Given the description of an element on the screen output the (x, y) to click on. 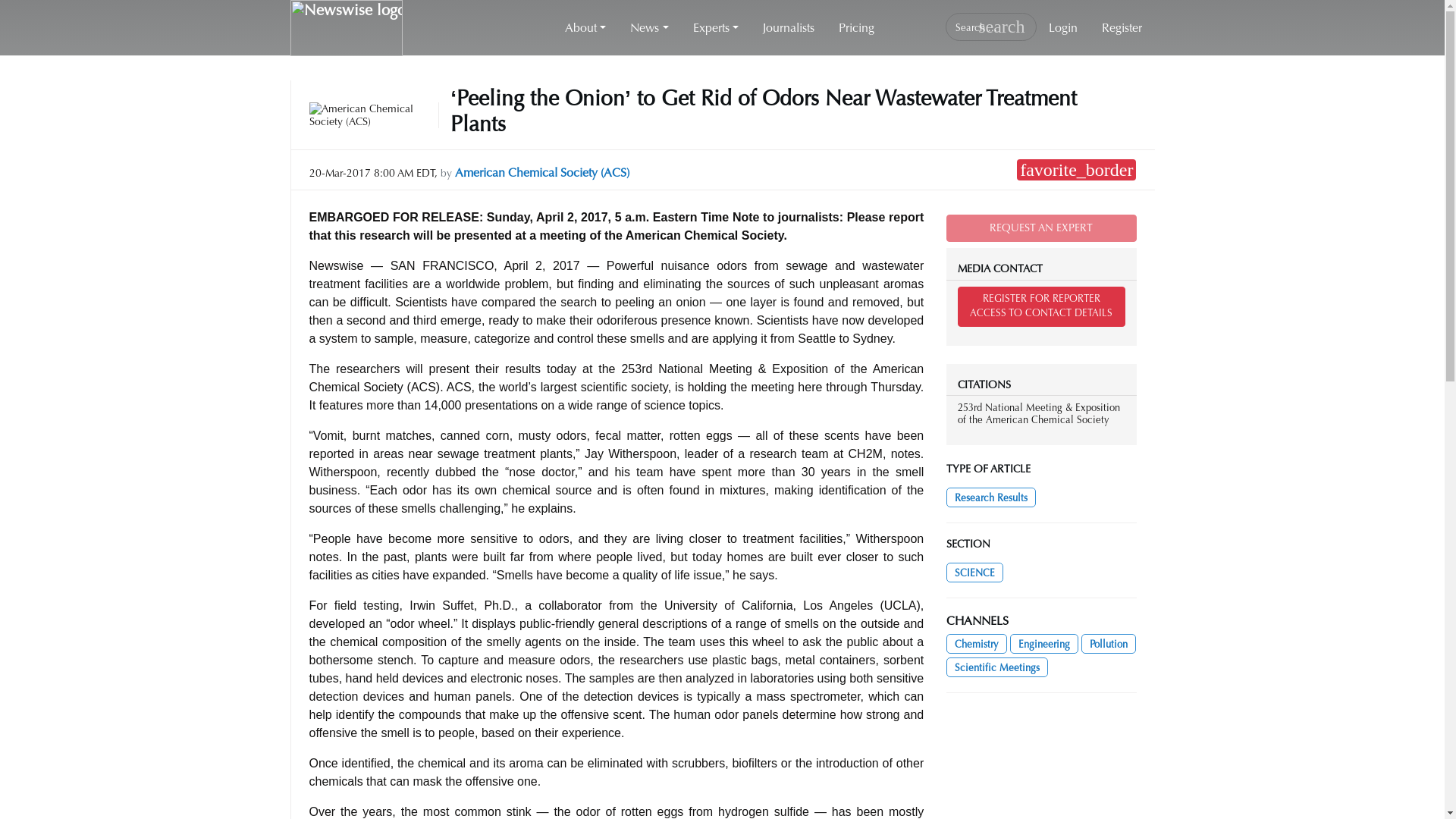
Add to Favorites (1075, 169)
Show all articles in this channel (974, 572)
Newswise logo (345, 28)
Show all articles in this channel (1044, 643)
About (585, 27)
Show all articles in this channel (1108, 643)
Research Results (990, 496)
News (648, 27)
Show all articles in this channel (976, 643)
